Given the description of an element on the screen output the (x, y) to click on. 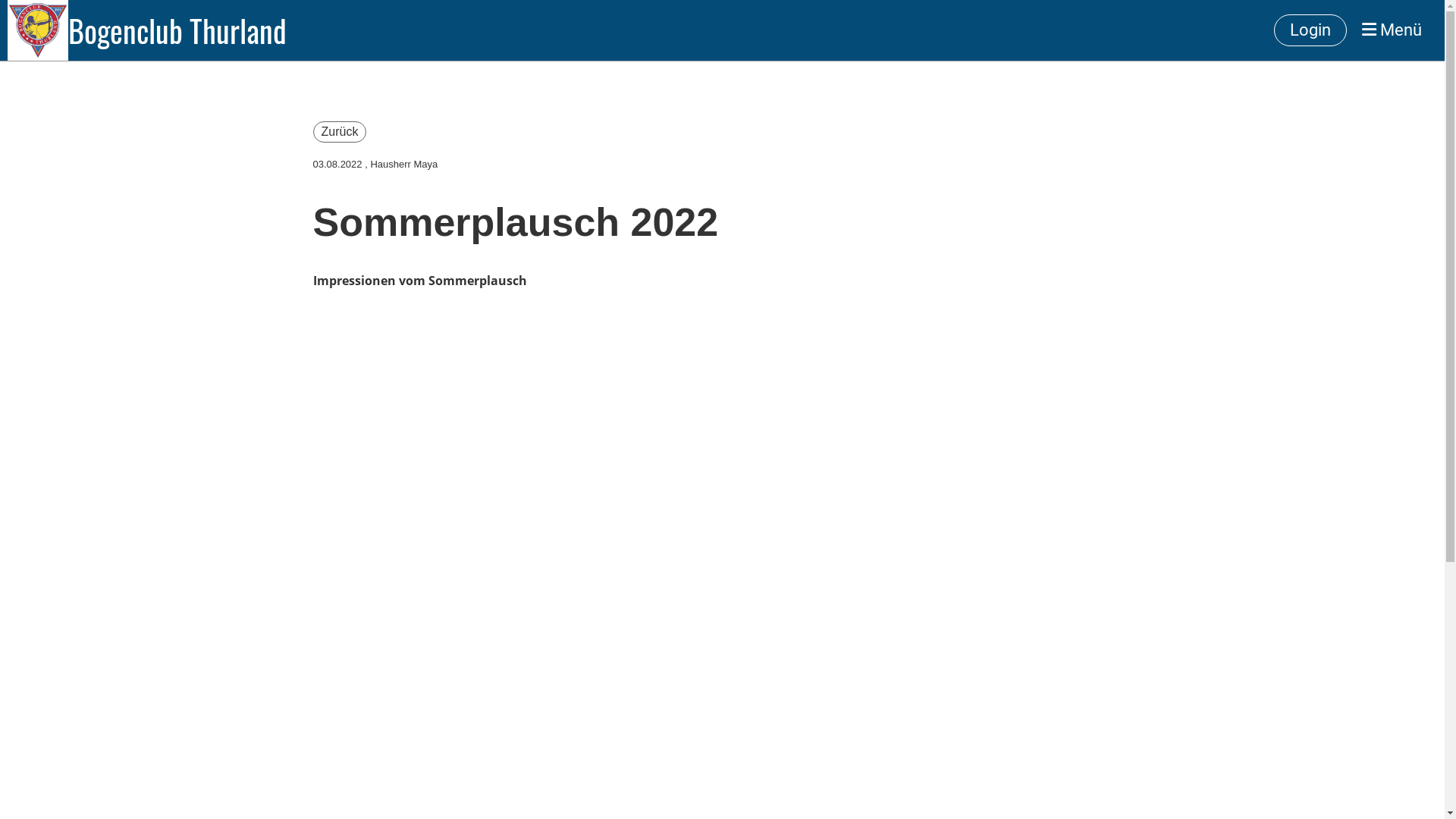
Bogenclub Thurland Element type: text (177, 30)
Login Element type: text (1310, 30)
